Given the description of an element on the screen output the (x, y) to click on. 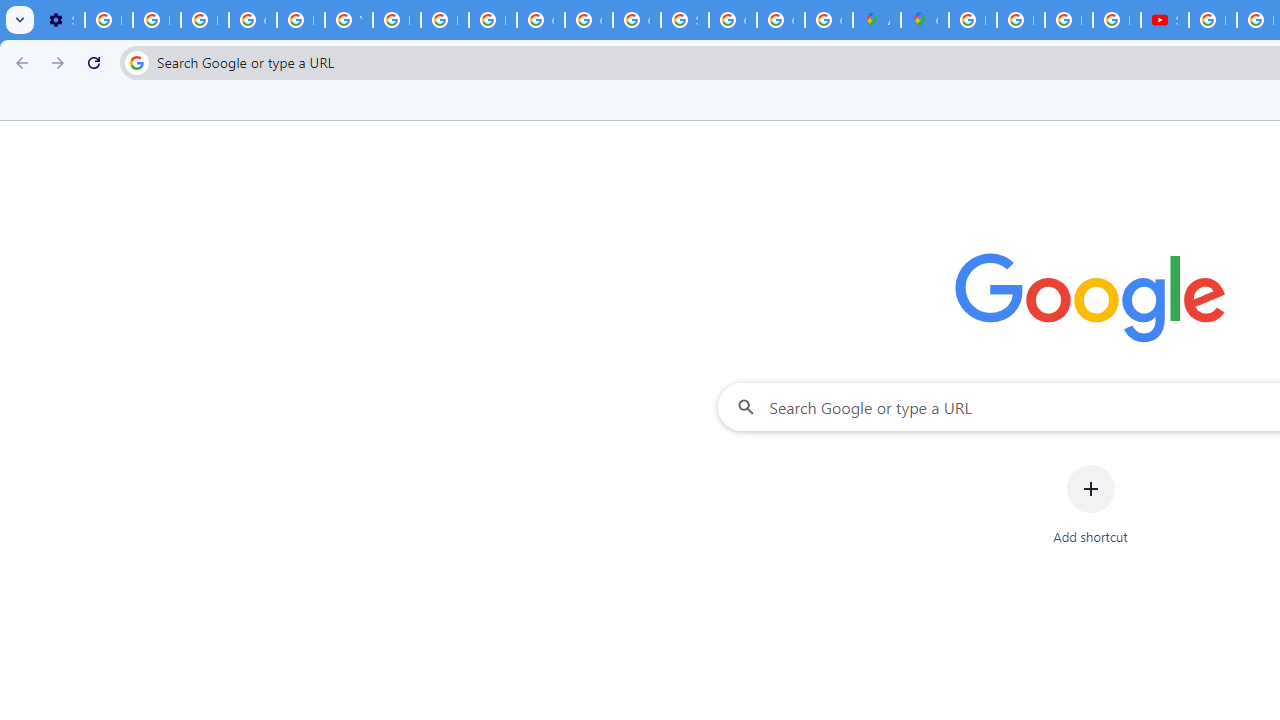
Privacy Help Center - Policies Help (444, 20)
Privacy Help Center - Policies Help (300, 20)
